Given the description of an element on the screen output the (x, y) to click on. 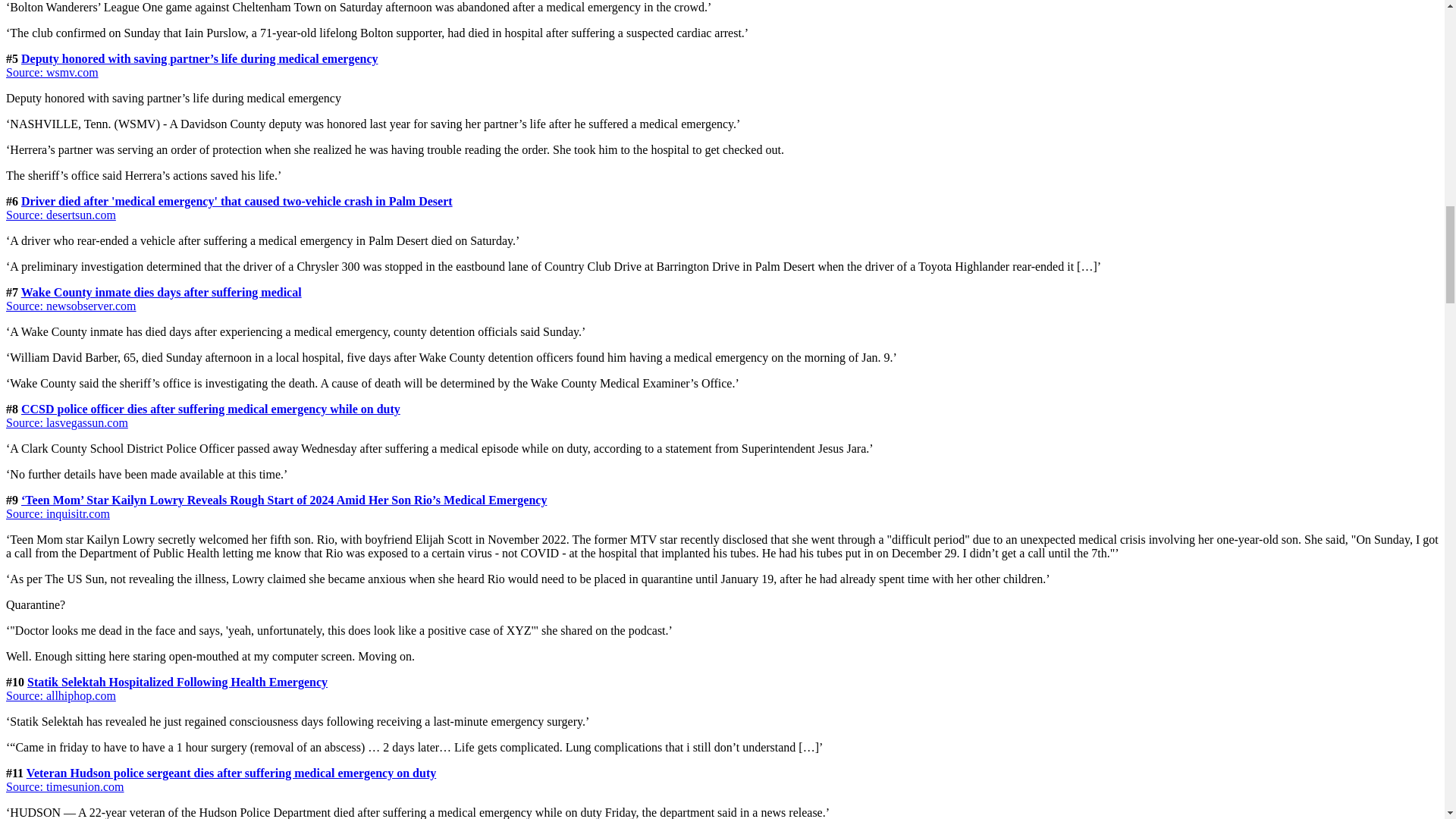
Wake County inmate dies days after suffering medical (161, 291)
Source: desertsun.com (60, 214)
Source: wsmv.com (52, 72)
Source: lasvegassun.com (66, 422)
Source: newsobserver.com (70, 305)
